Given the description of an element on the screen output the (x, y) to click on. 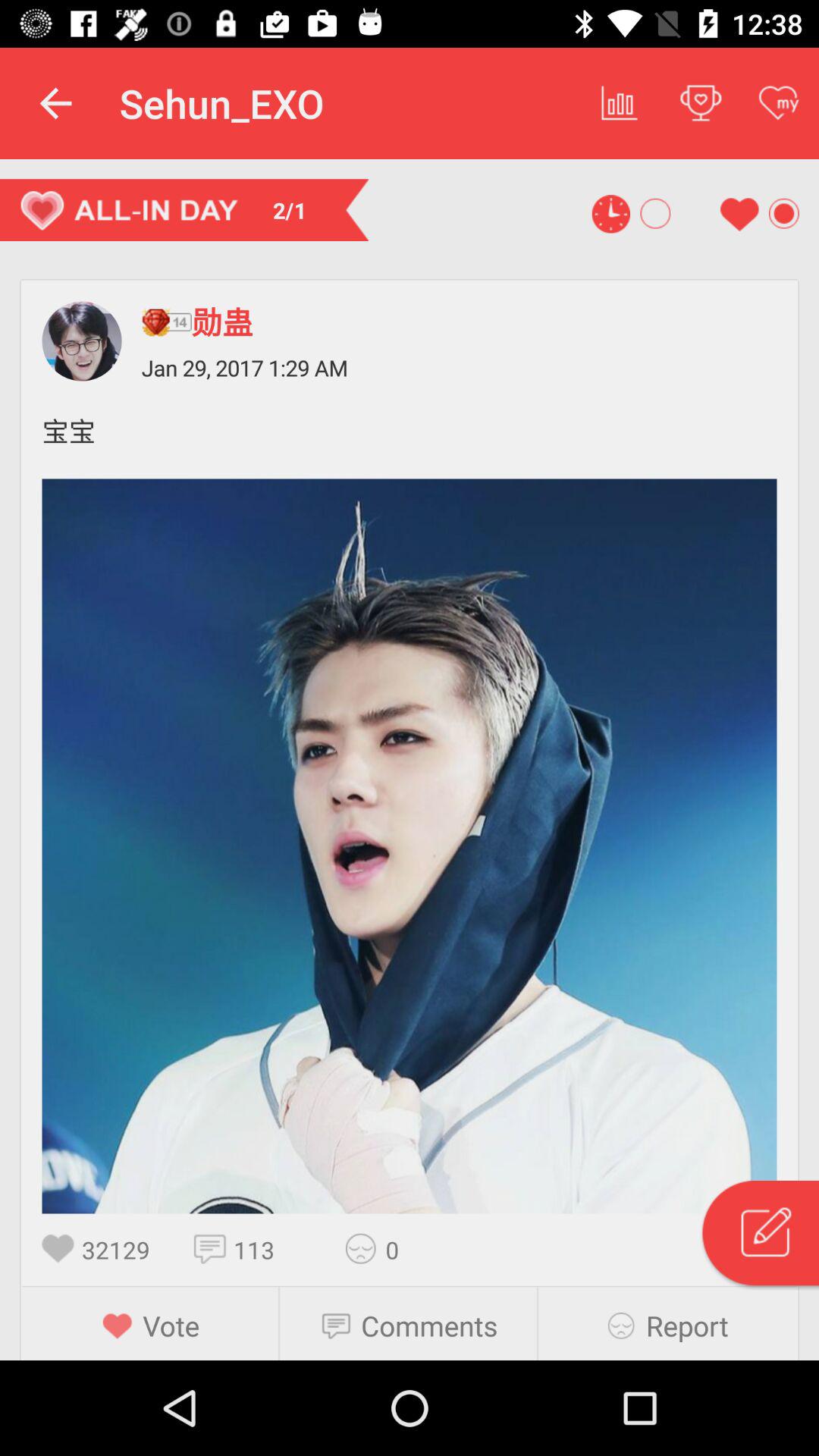
select the photo (409, 845)
